Given the description of an element on the screen output the (x, y) to click on. 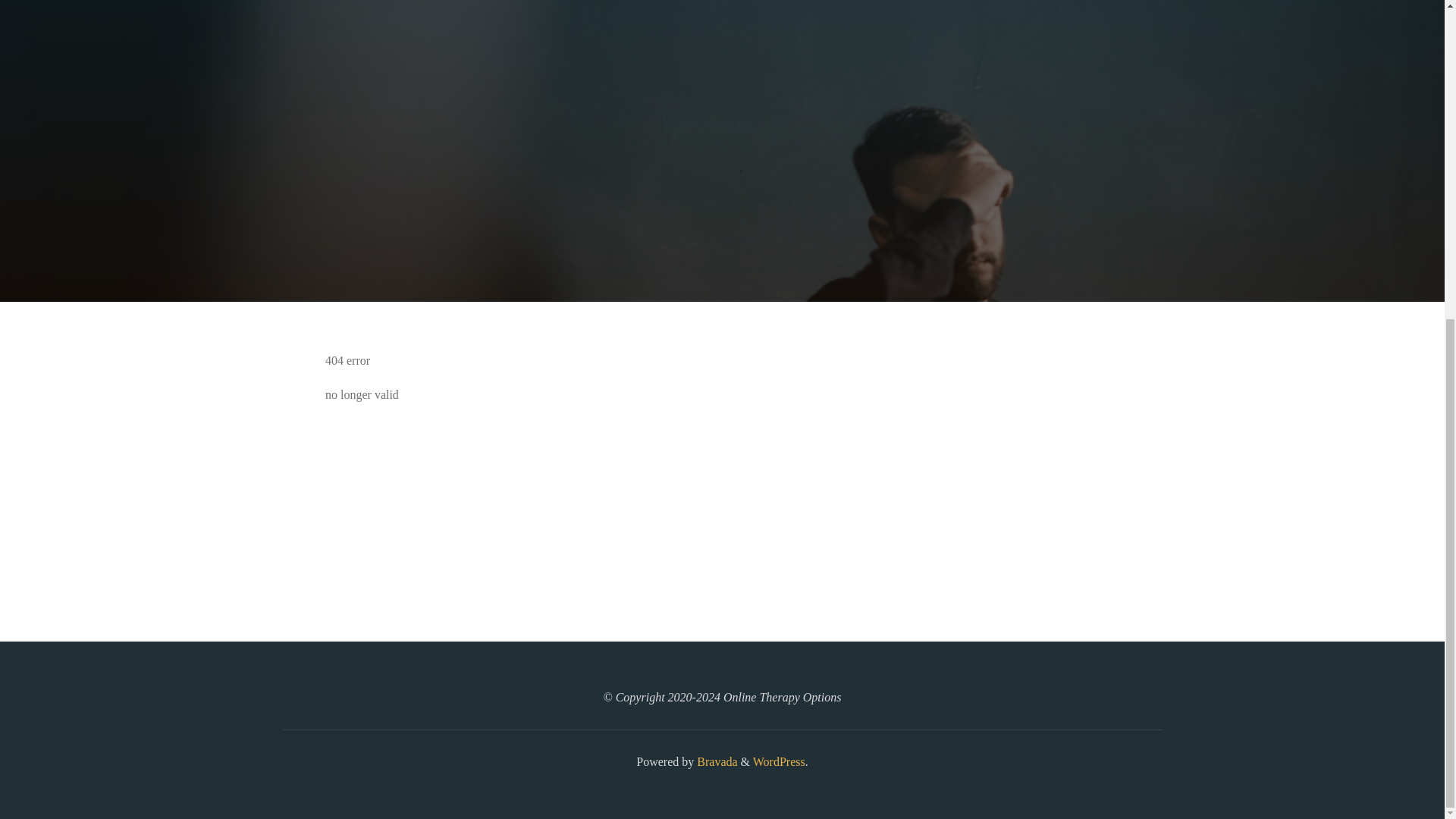
Bravada (715, 761)
Bravada WordPress Theme by Cryout Creations (715, 761)
Semantic Personal Publishing Platform (778, 761)
WordPress (778, 761)
Read more (721, 207)
